Given the description of an element on the screen output the (x, y) to click on. 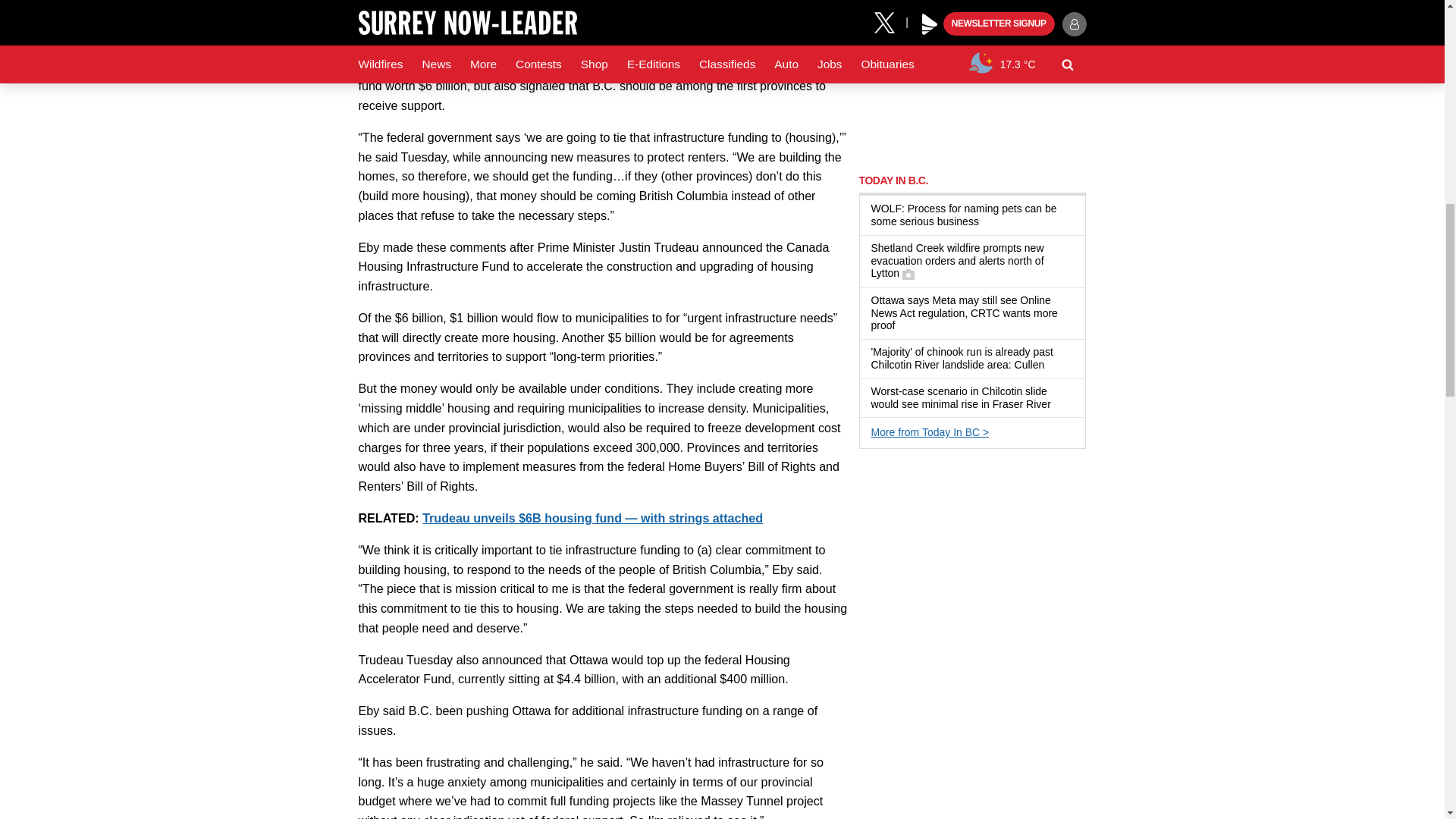
Has a gallery (908, 274)
